Given the description of an element on the screen output the (x, y) to click on. 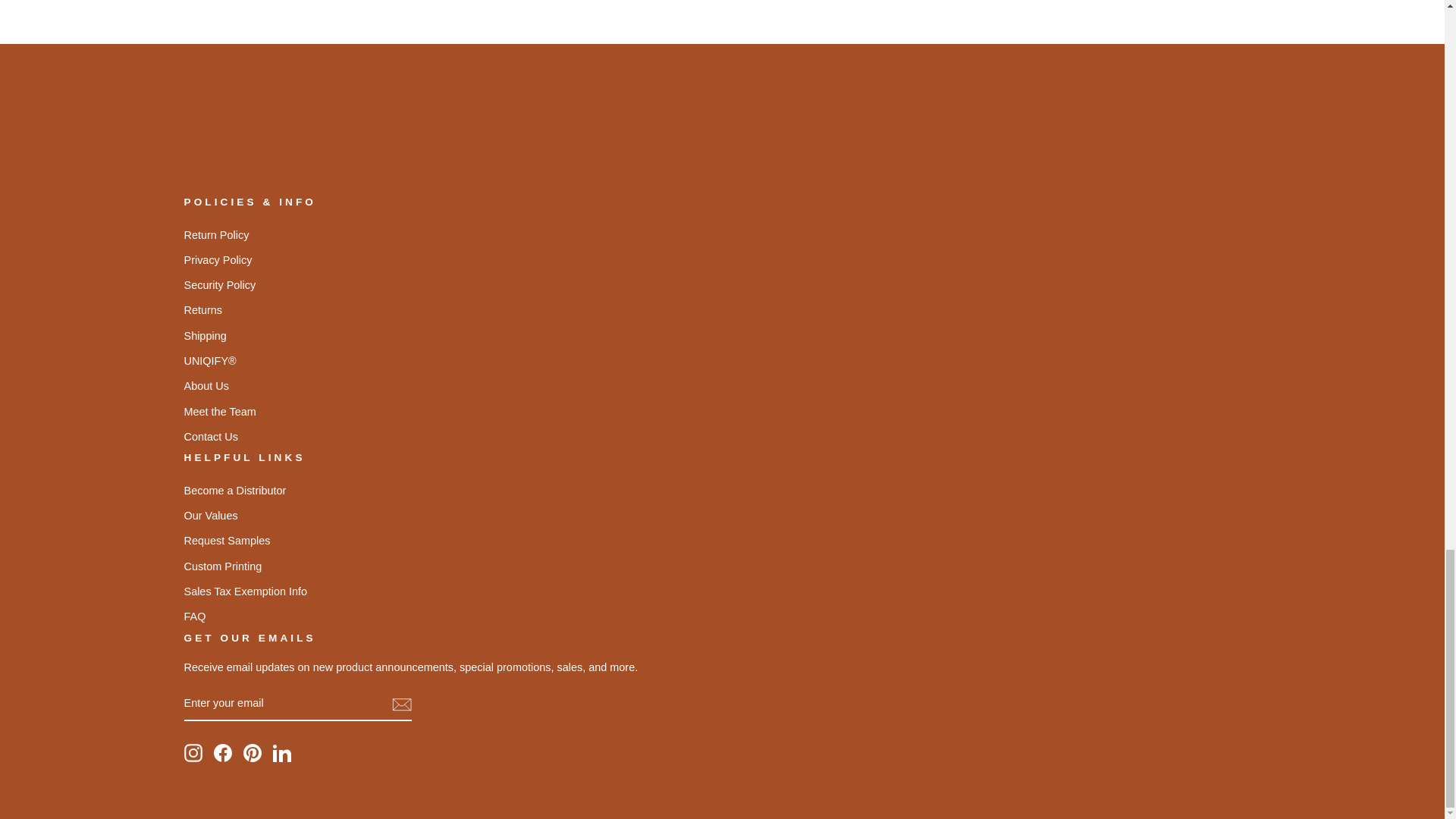
icon-email (400, 704)
Hot Cup Factory on Facebook (222, 752)
Hot Cup Factory on Instagram (192, 752)
Hot Cup Factory on Pinterest (251, 752)
instagram (192, 752)
Hot Cup Factory on LinkedIn (282, 752)
